Given the description of an element on the screen output the (x, y) to click on. 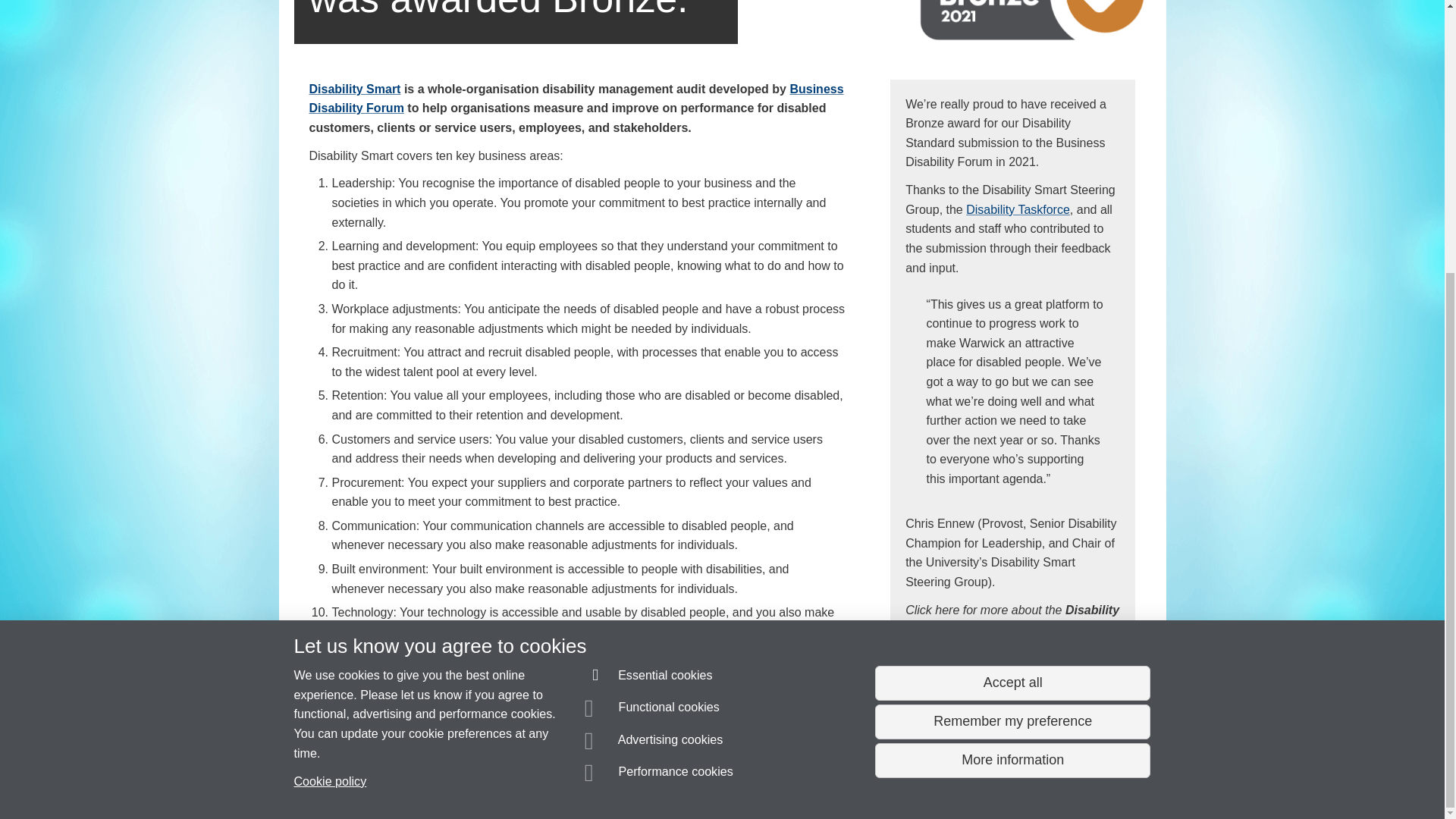
Information about cookies (467, 780)
Accept all functional, advertising and performance cookies (1012, 282)
Send an email to Social Inclusion (383, 751)
Copyright Statement (514, 780)
Privacy (673, 780)
Privacy notice (673, 780)
Accessibility (419, 780)
Essential cookies are always on (649, 277)
Accept all (1012, 282)
Remember my preference (1012, 321)
Work with us (1110, 774)
Disability Taskforce (1018, 209)
Terms (708, 780)
